Given the description of an element on the screen output the (x, y) to click on. 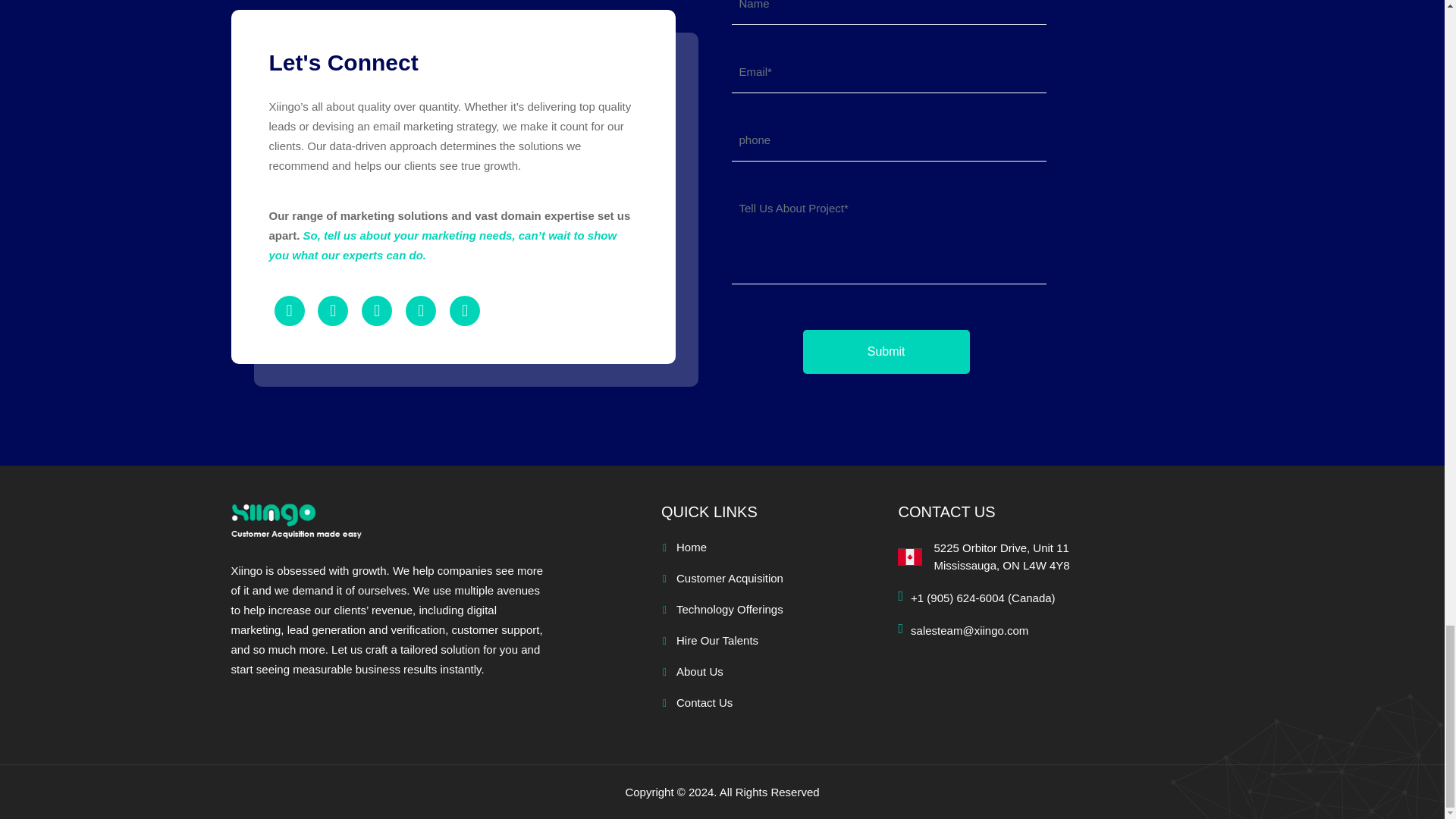
Home (691, 546)
About Us (700, 671)
Technology Offerings (730, 608)
Hire Our Talents (886, 351)
Contact Us (717, 640)
Customer Acquisition (704, 702)
